Given the description of an element on the screen output the (x, y) to click on. 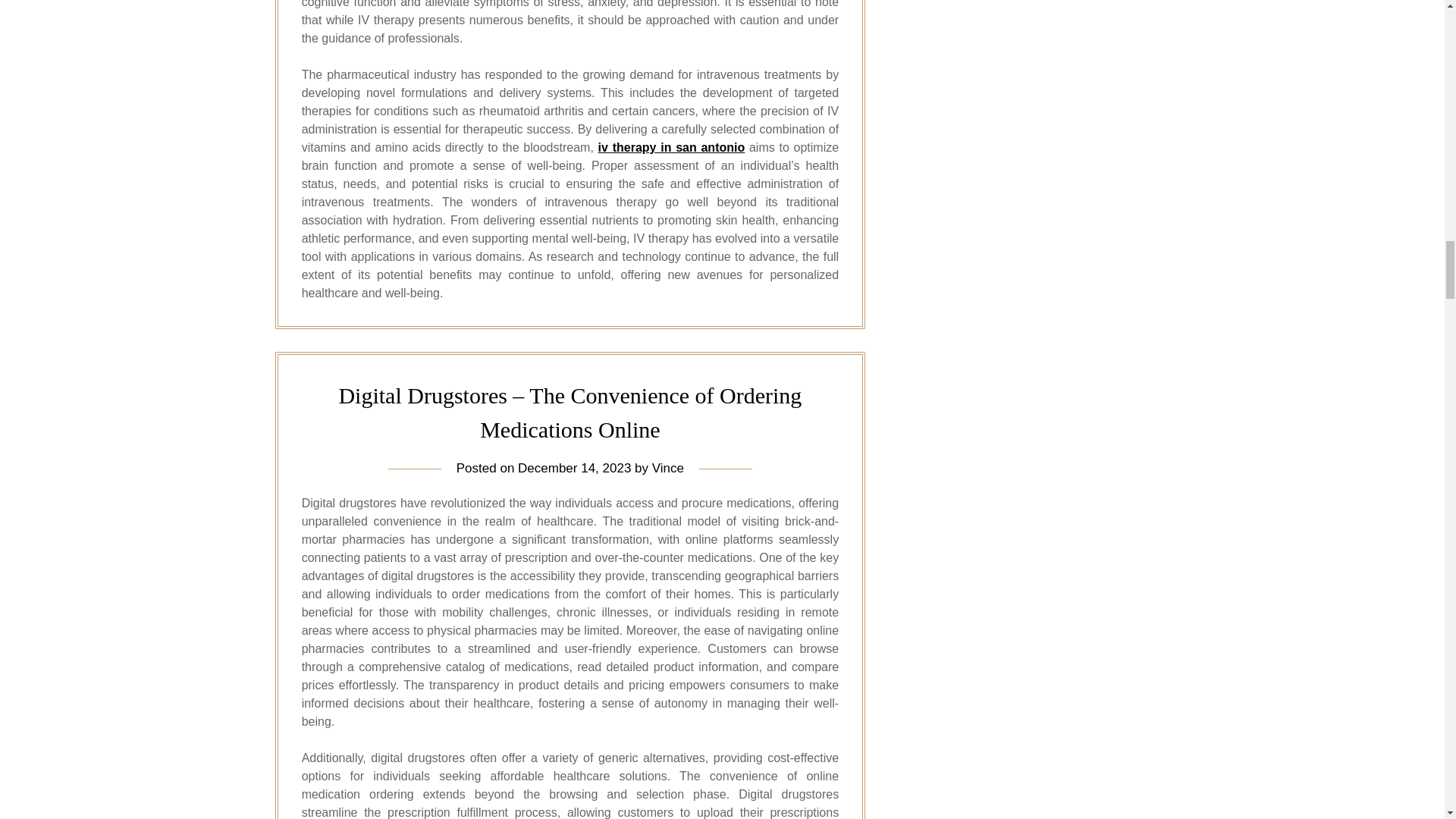
December 14, 2023 (574, 468)
Vince (668, 468)
iv therapy in san antonio (671, 146)
